Given the description of an element on the screen output the (x, y) to click on. 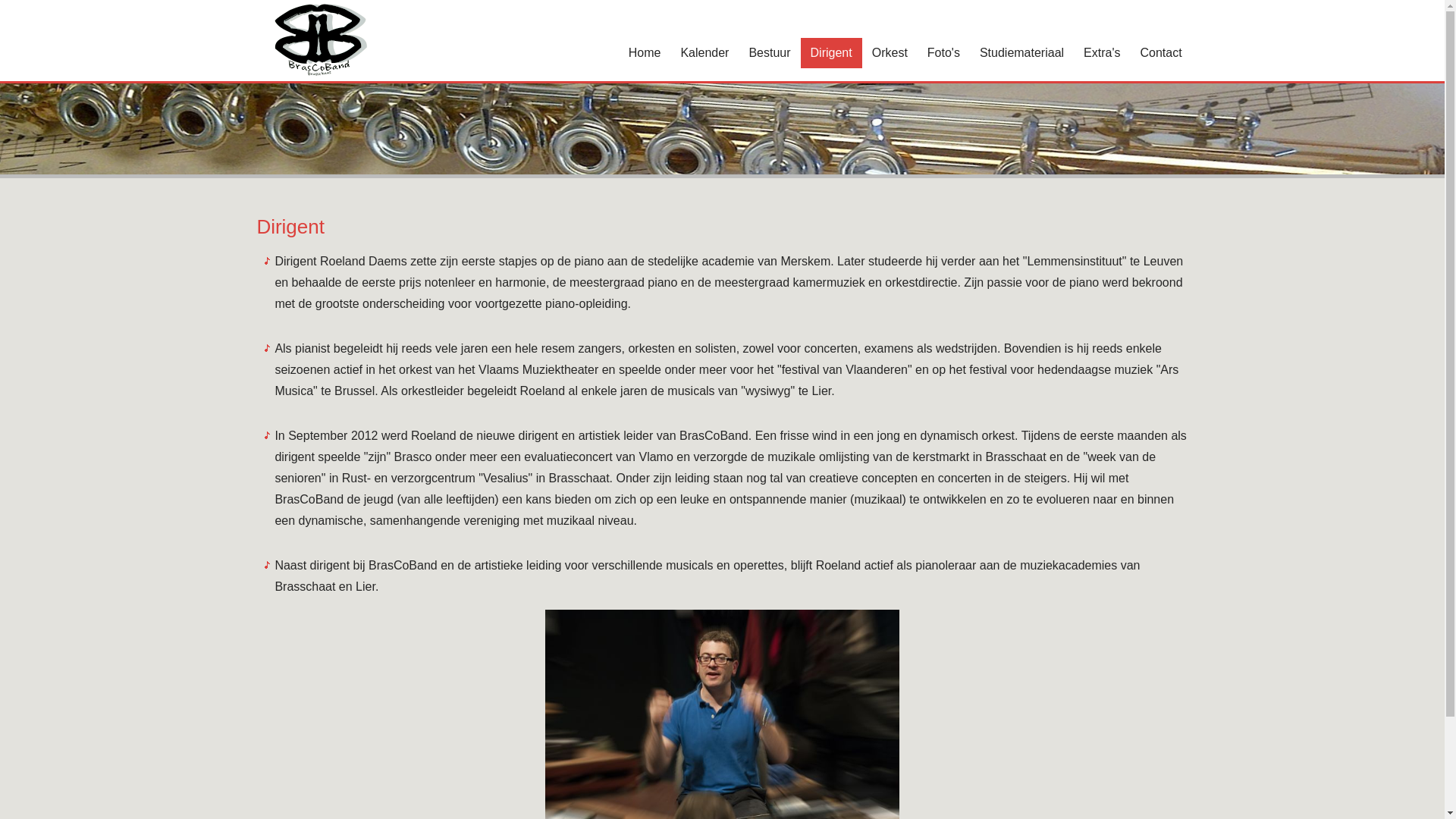
Studiemateriaal Element type: text (1021, 52)
Foto's Element type: text (943, 52)
Bestuur Element type: text (769, 52)
Contact Element type: text (1160, 52)
Home Element type: text (644, 52)
Kalender Element type: text (704, 52)
Orkest Element type: text (889, 52)
Dirigent Element type: text (831, 52)
Extra's Element type: text (1101, 52)
